Given the description of an element on the screen output the (x, y) to click on. 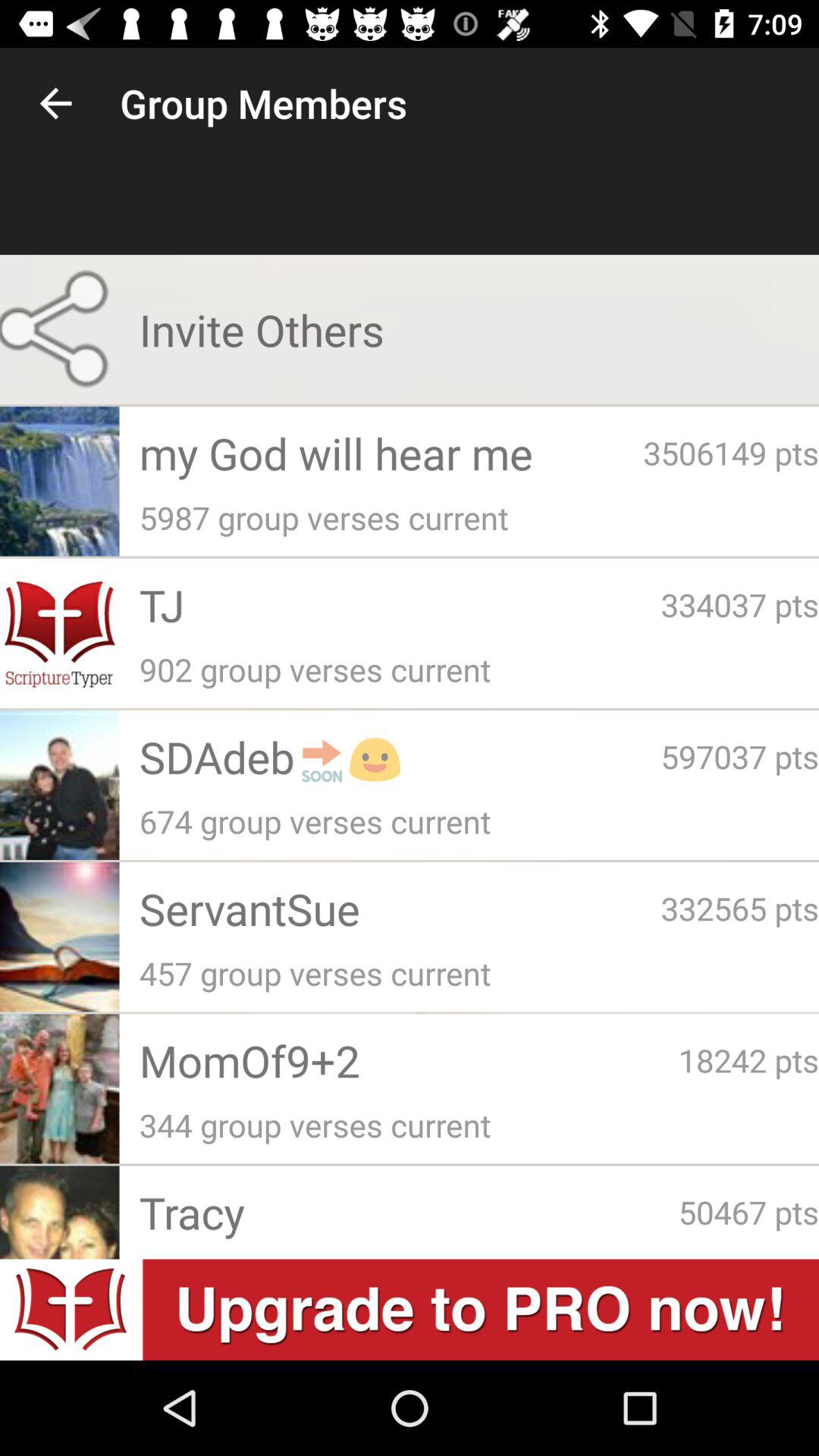
click the icon below 674 group verses app (399, 908)
